Given the description of an element on the screen output the (x, y) to click on. 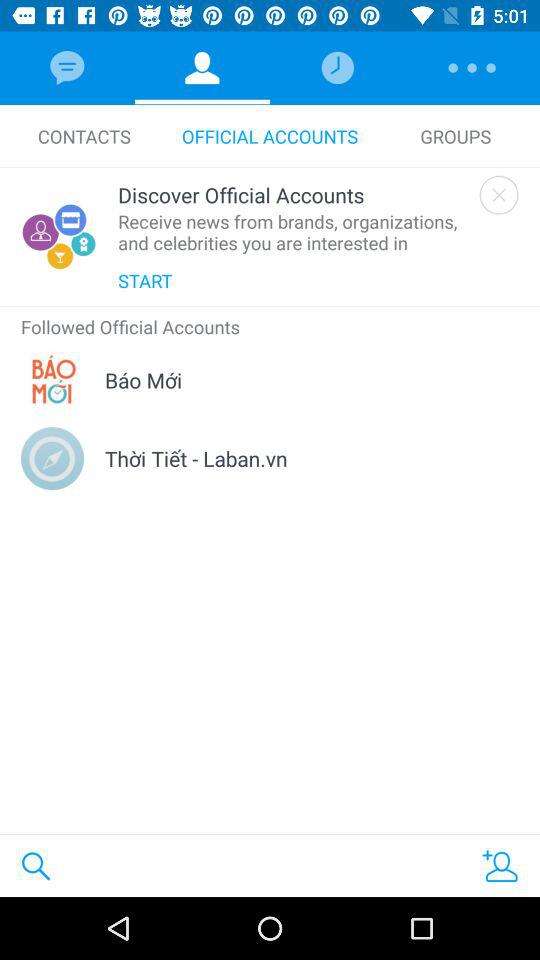
turn on icon below discover official accounts (294, 232)
